Given the description of an element on the screen output the (x, y) to click on. 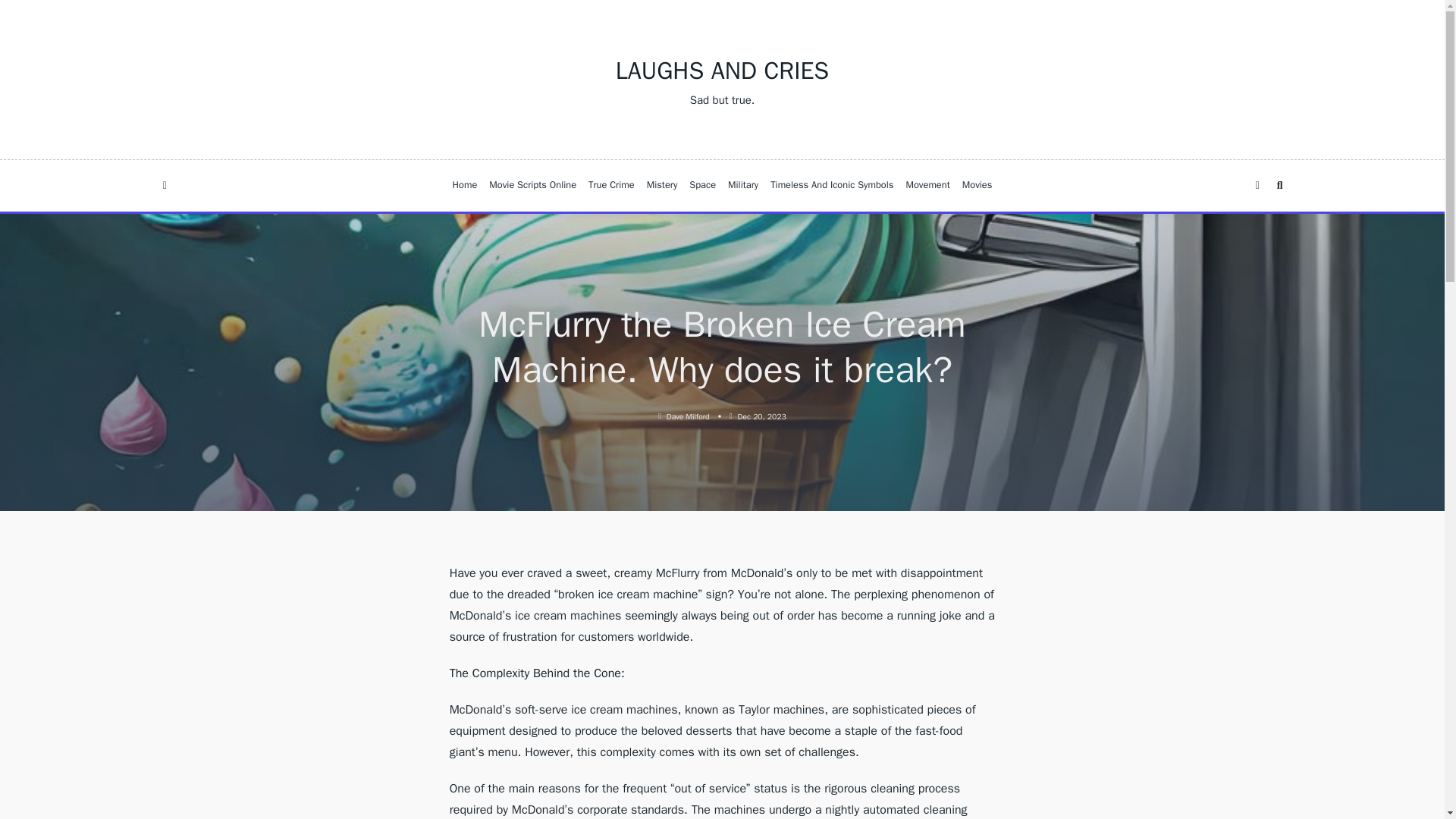
Movies (977, 185)
Dec 20, 2023 (762, 416)
Space (702, 185)
Dave Milford (688, 416)
Mistery (662, 185)
Military (743, 185)
Movie Scripts Online (532, 185)
Movement (927, 185)
True Crime (611, 185)
LAUGHS AND CRIES (721, 70)
Timeless And Iconic Symbols (831, 185)
Home (464, 185)
